Given the description of an element on the screen output the (x, y) to click on. 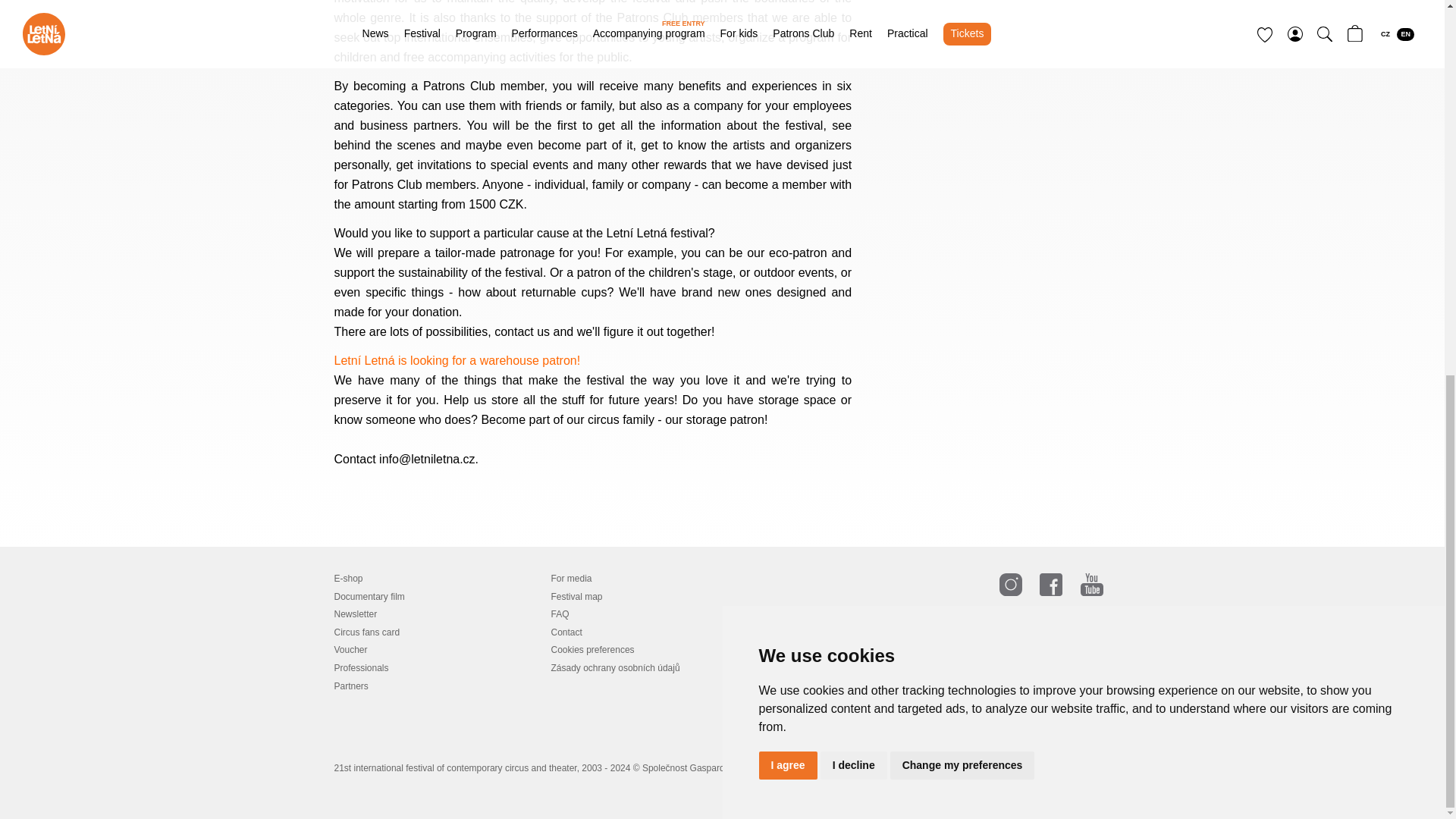
I agree (787, 76)
I decline (853, 76)
Change my preferences (962, 76)
